Given the description of an element on the screen output the (x, y) to click on. 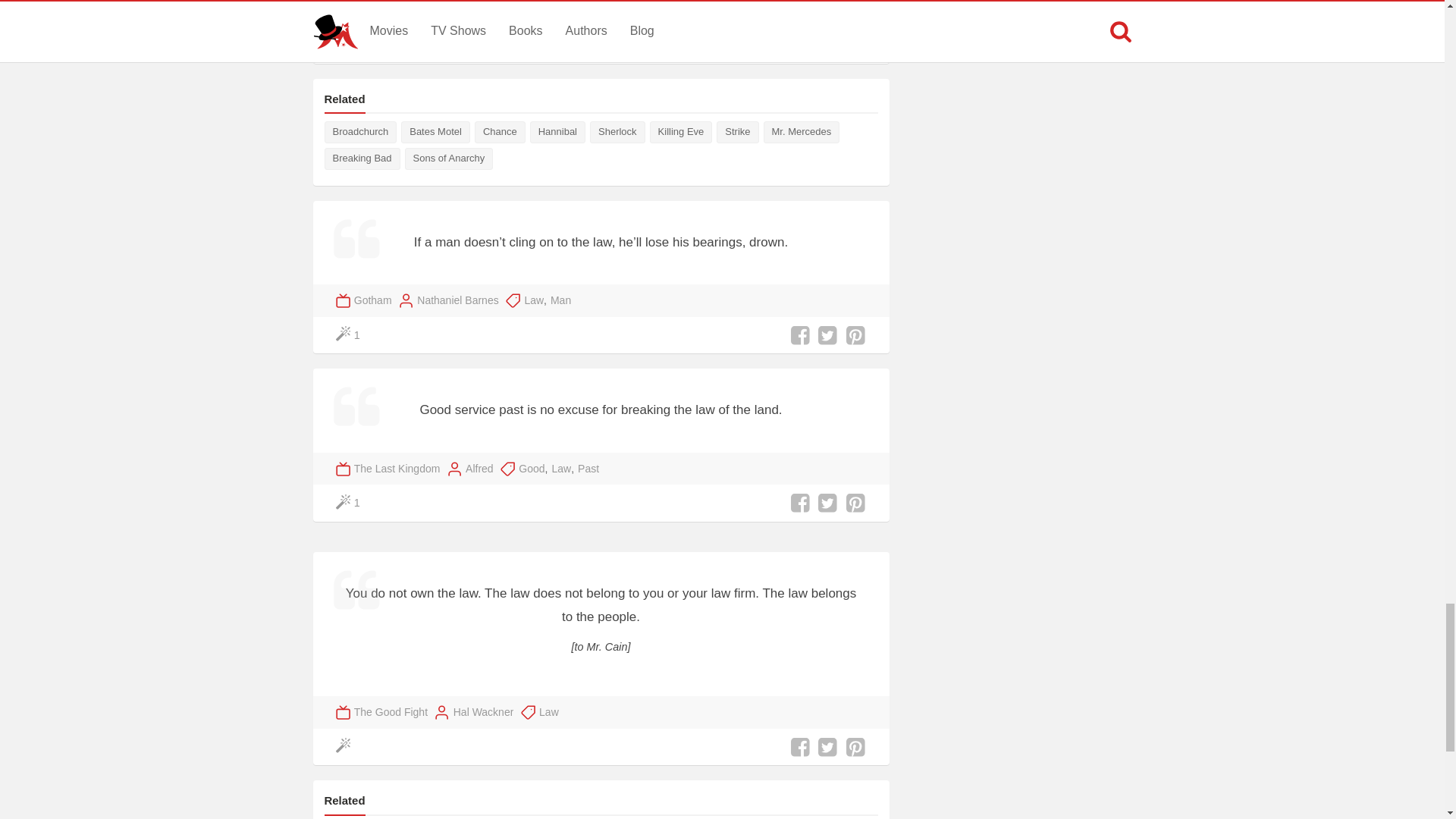
Do Some Magic! (345, 747)
Do Some Magic! (348, 45)
Do Some Magic! (348, 335)
Do Some Magic! (348, 503)
